Given the description of an element on the screen output the (x, y) to click on. 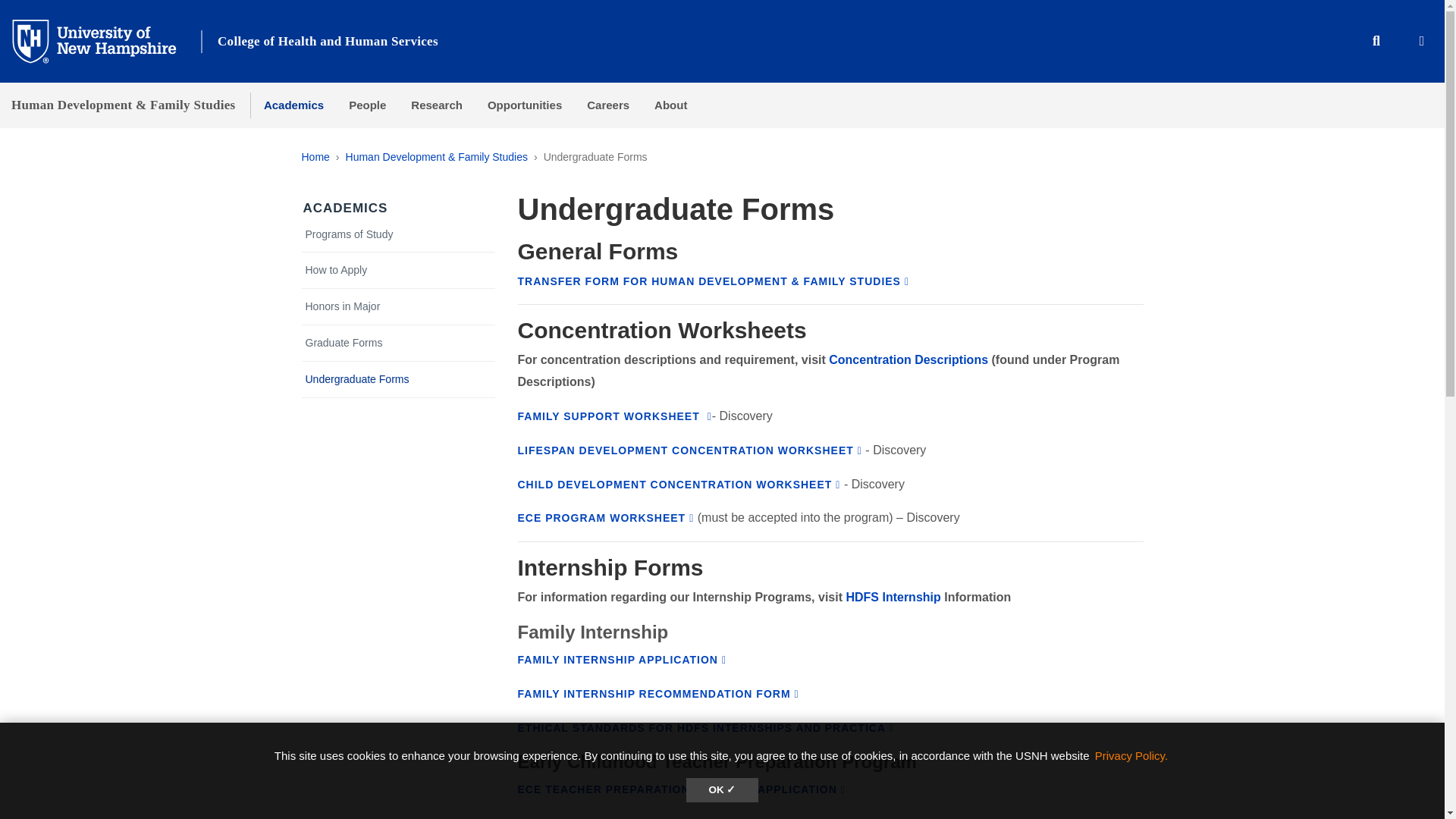
University of New Hampshire (105, 40)
Research (437, 104)
Privacy Policy. (1131, 755)
Academics (293, 104)
College of Health and Human Services (327, 41)
Careers (608, 104)
Graduate Forms (399, 342)
How to Apply (399, 269)
About (671, 104)
ACADEMICS (345, 207)
People (367, 104)
Undergraduate Forms (399, 379)
Honors in Major (399, 306)
Programs of Study (399, 234)
